Given the description of an element on the screen output the (x, y) to click on. 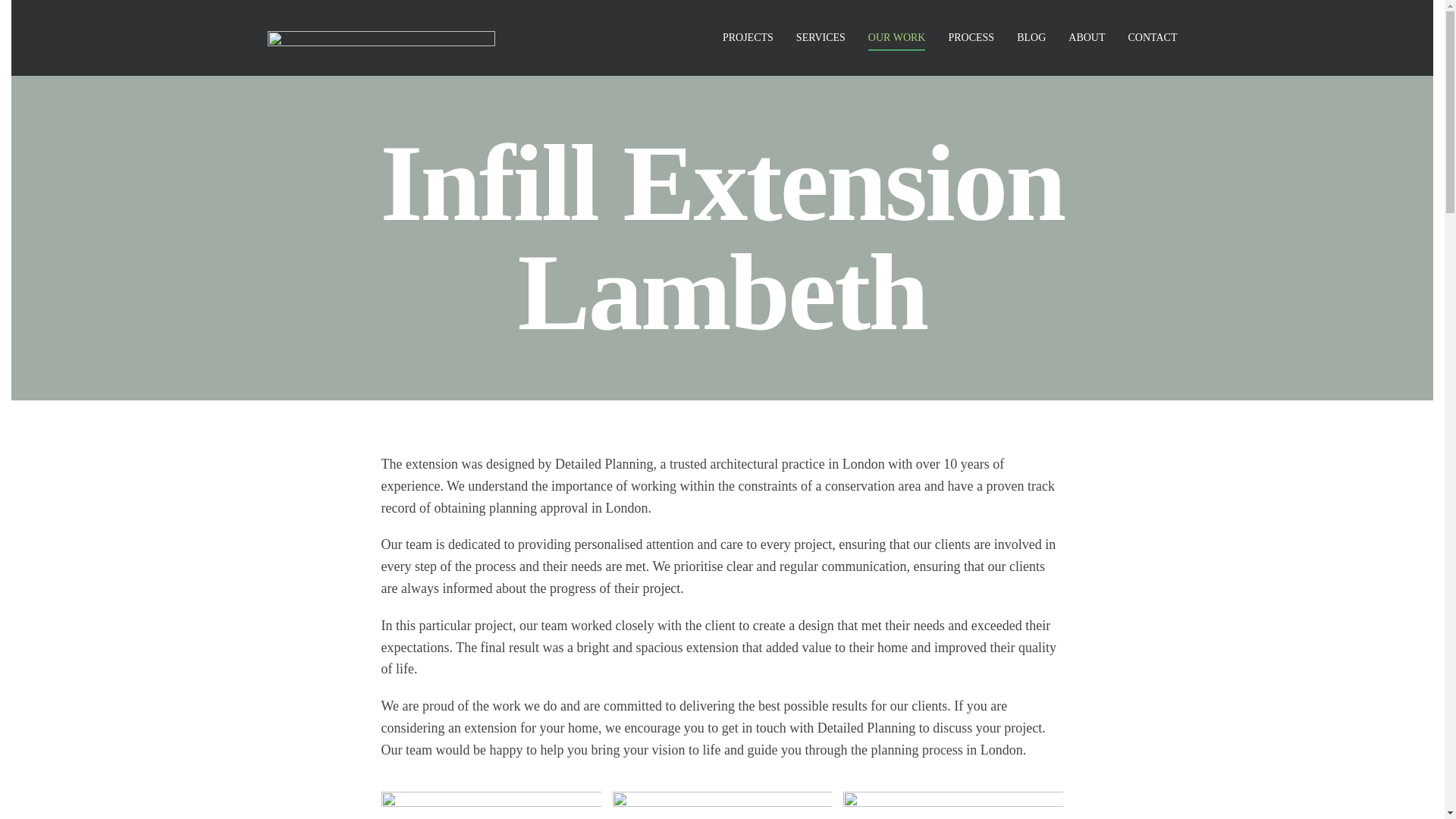
PROJECTS (747, 37)
SERVICES (820, 37)
OUR WORK (896, 37)
